Given the description of an element on the screen output the (x, y) to click on. 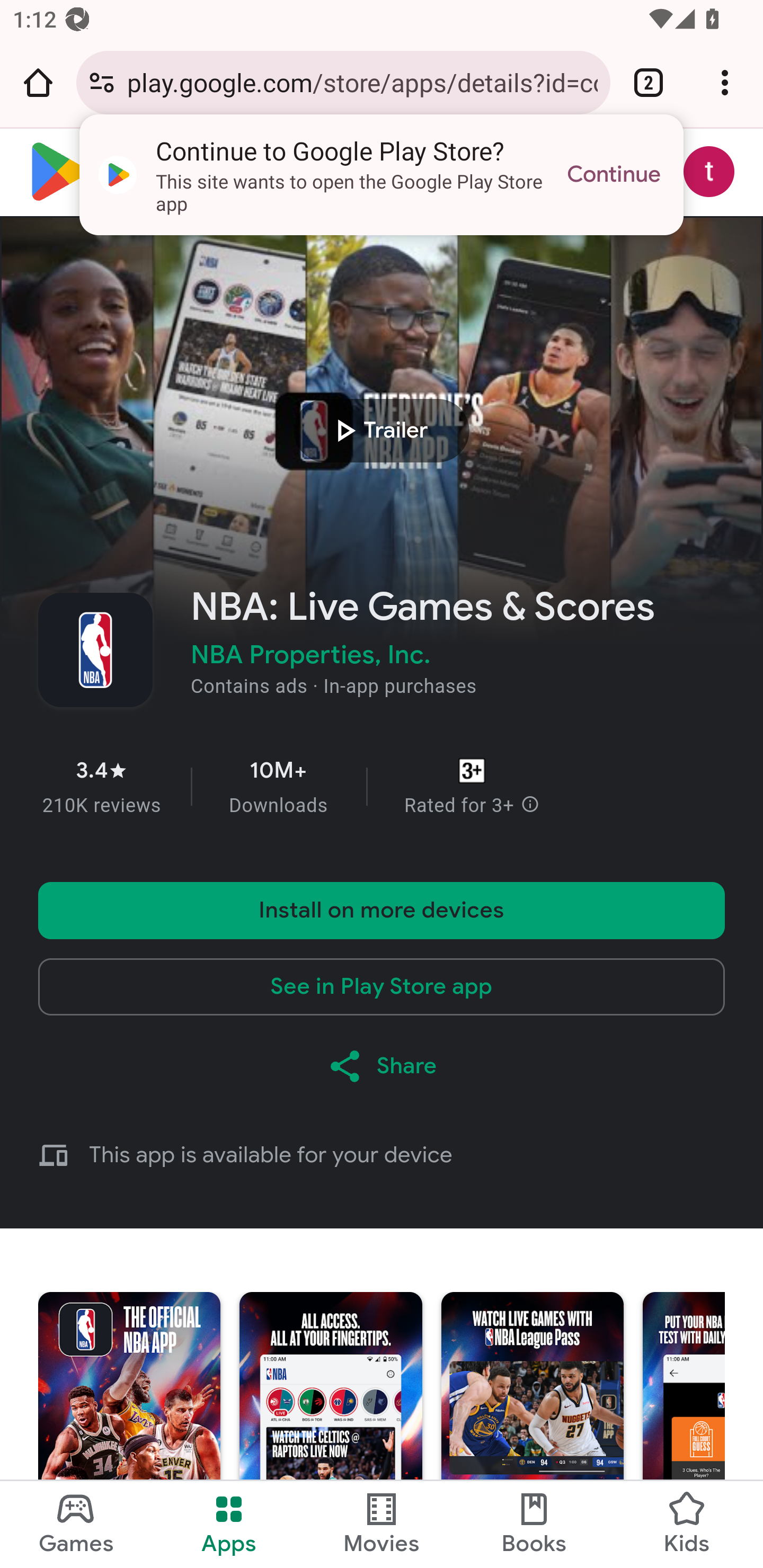
Open the home page (38, 82)
Connection is secure (101, 82)
Switch or close tabs (648, 82)
Customize and control Google Chrome (724, 82)
Continue (613, 174)
Play trailer (381, 430)
NBA Properties, Inc. (310, 654)
More info about this content rating (529, 805)
Install on more devices (381, 910)
See in Play Store app (381, 986)
Share (381, 1065)
Screenshot image (129, 1430)
Screenshot image (330, 1430)
Screenshot image (532, 1430)
Games (76, 1524)
Apps (228, 1524)
Movies (381, 1524)
Books (533, 1524)
Kids (686, 1524)
